Given the description of an element on the screen output the (x, y) to click on. 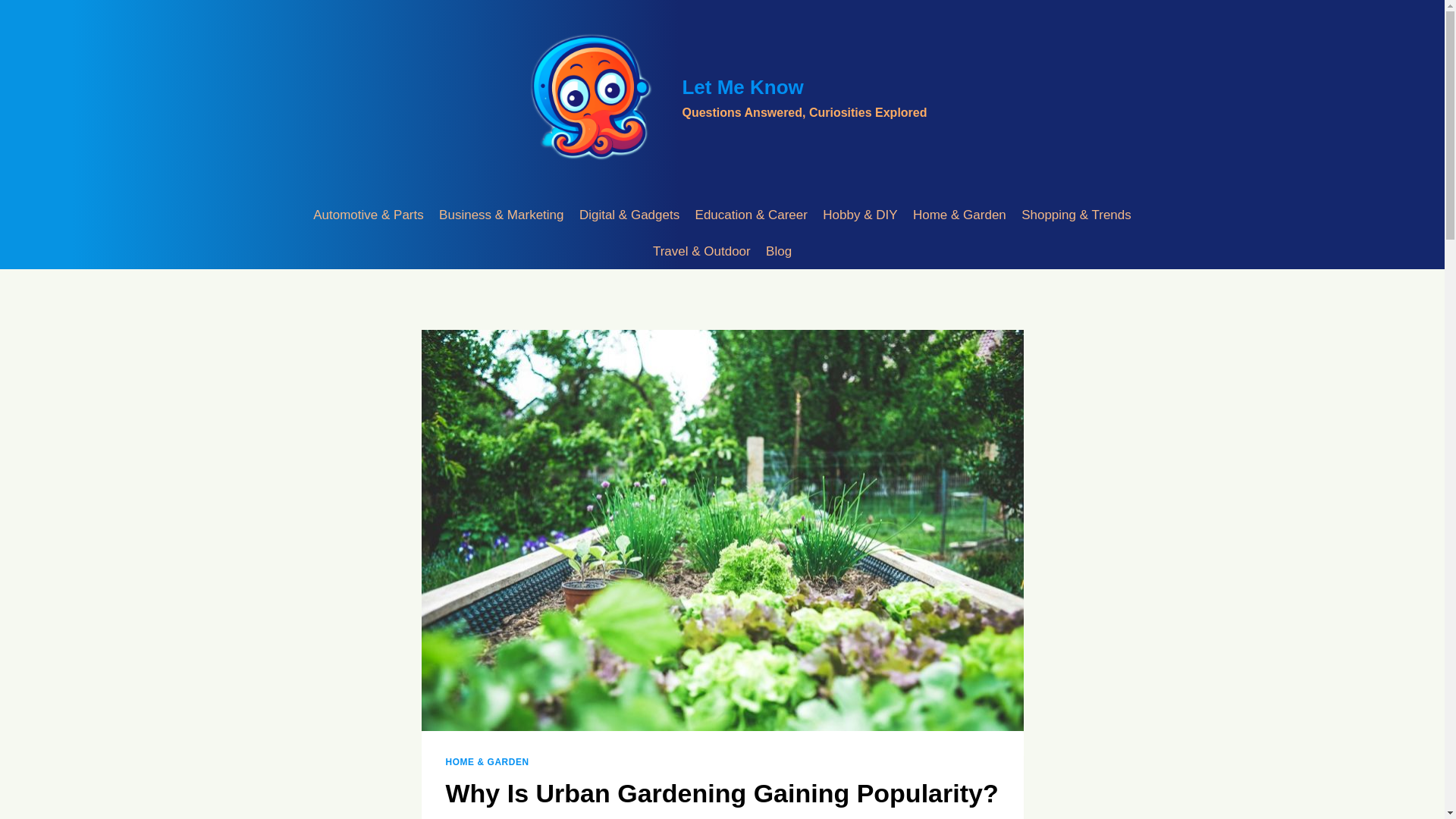
Blog (721, 98)
